Given the description of an element on the screen output the (x, y) to click on. 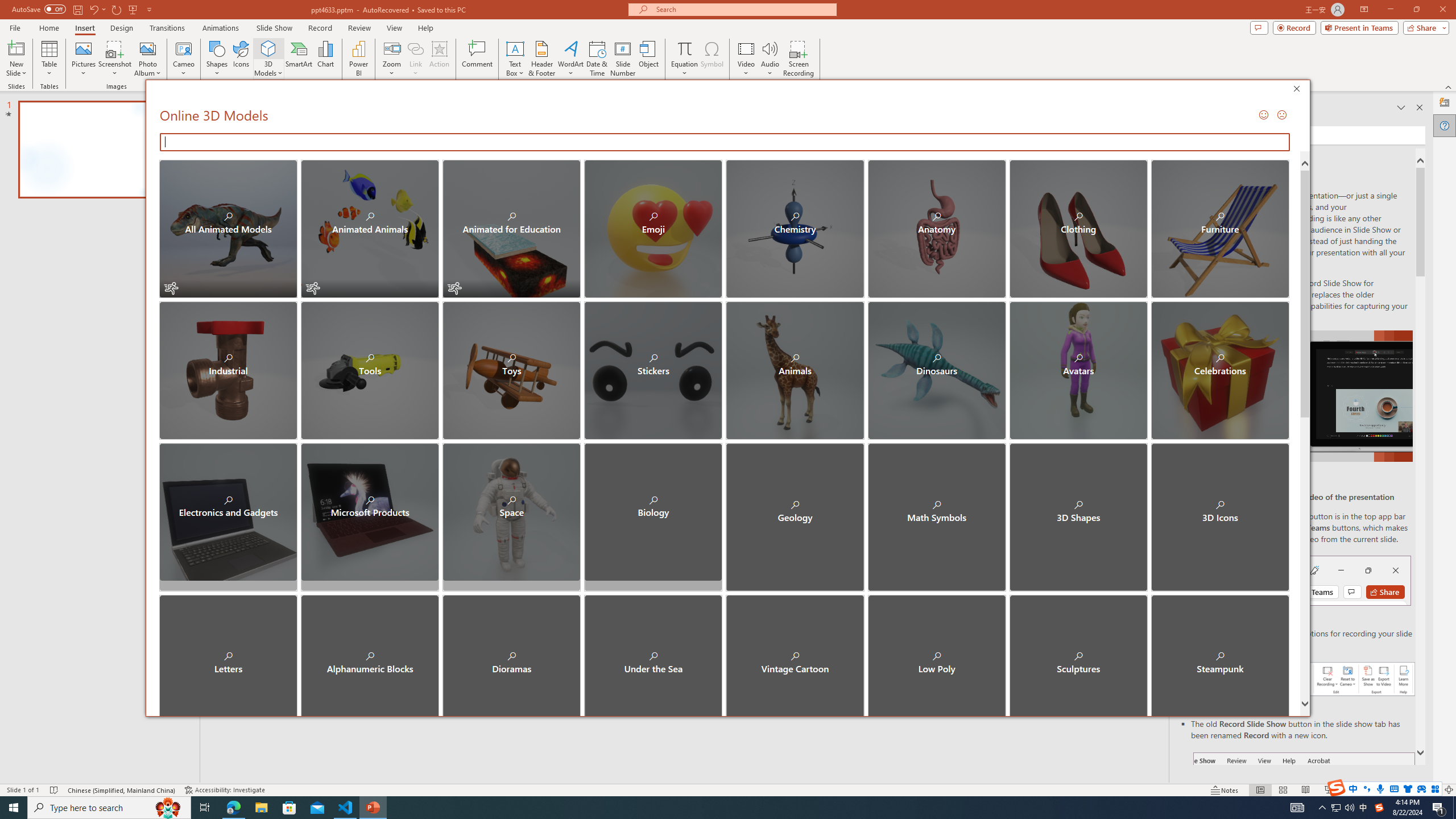
Photo Album... (147, 58)
Comment (476, 58)
Emoji (653, 228)
Under the Sea (653, 653)
Electronics and Gadgets (228, 511)
Icons (240, 58)
